Given the description of an element on the screen output the (x, y) to click on. 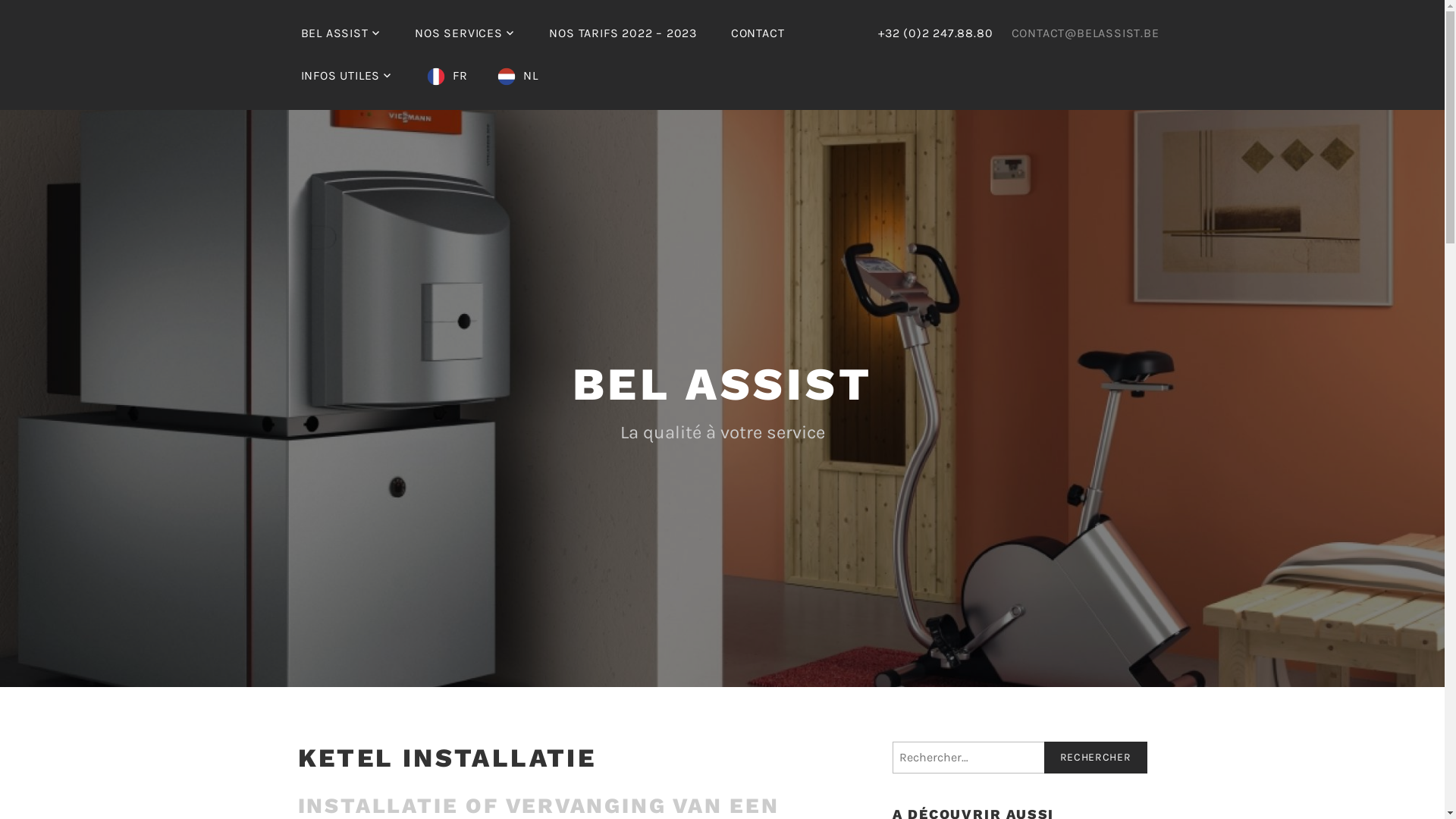
NOS SERVICES Element type: text (464, 33)
BEL ASSIST Element type: text (721, 384)
FR Element type: text (447, 75)
CONTACT Element type: text (757, 33)
INFOS UTILES Element type: text (346, 75)
Skip to content Element type: text (0, 0)
Rechercher Element type: text (1094, 757)
BEL ASSIST Element type: text (340, 33)
NL Element type: text (517, 75)
